Given the description of an element on the screen output the (x, y) to click on. 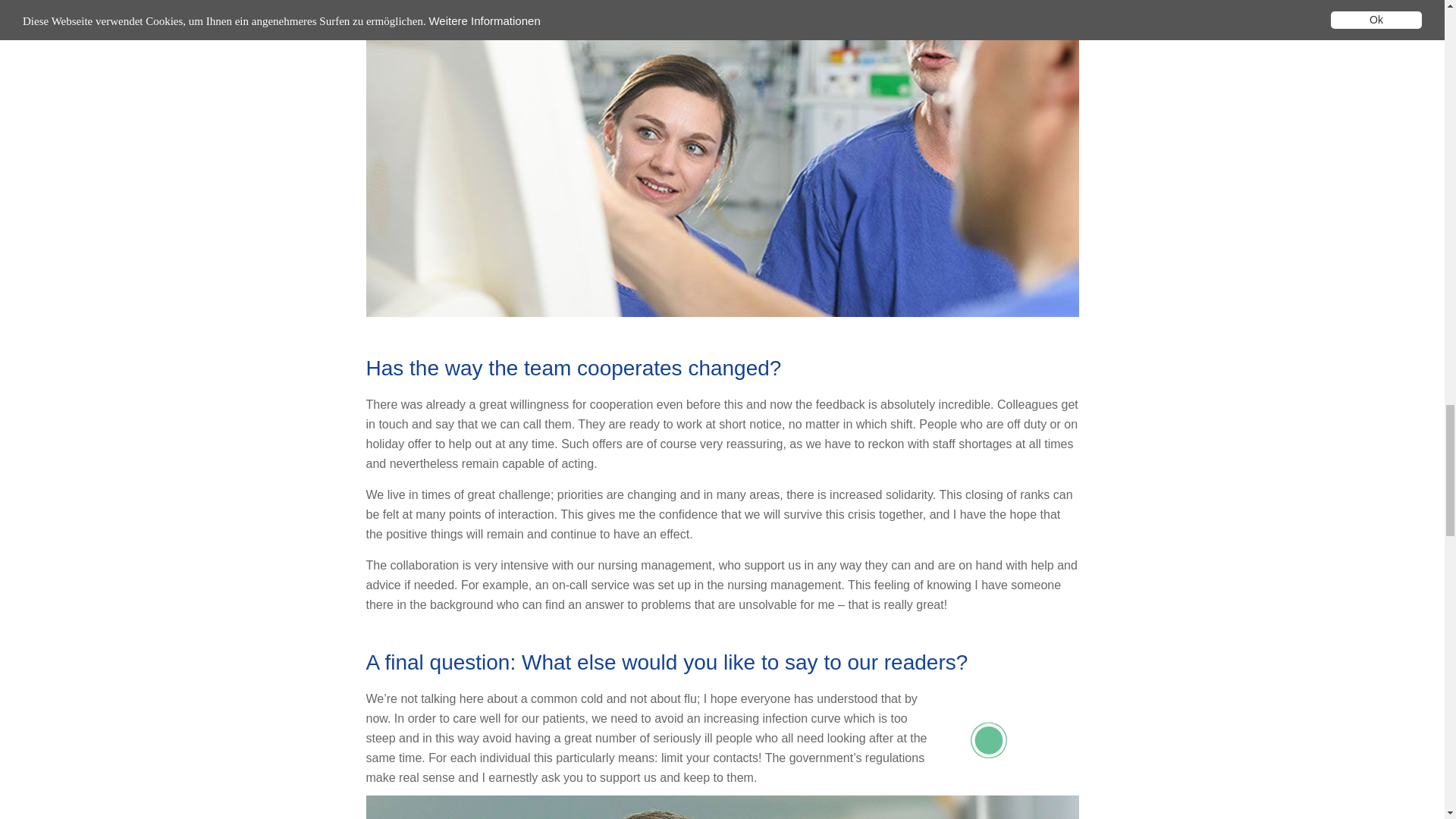
Nurse Andreas M. (721, 807)
Zitat von Andreas M. - hier klicken (1005, 739)
